Given the description of an element on the screen output the (x, y) to click on. 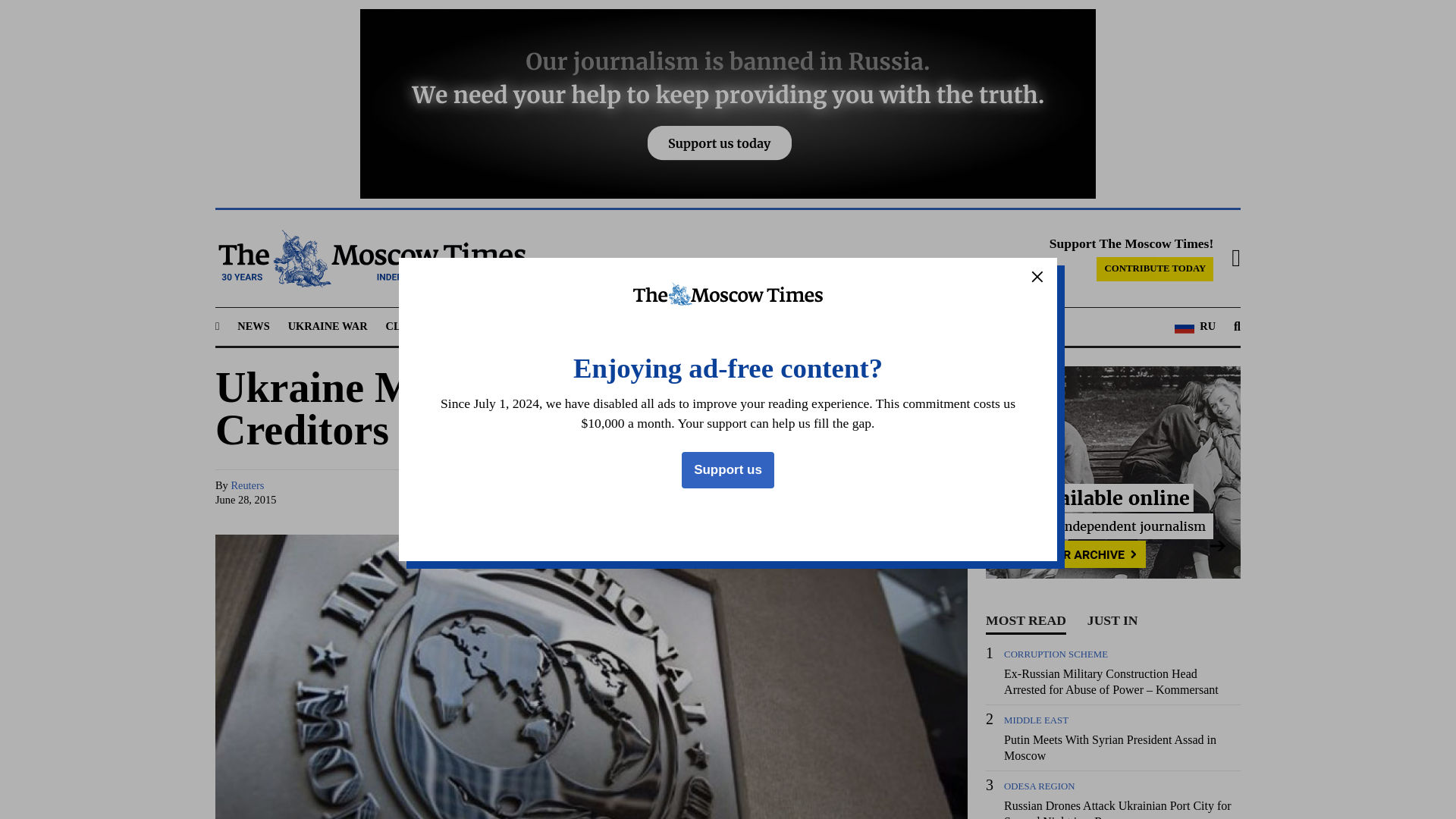
Share on Twitter (810, 492)
Support us (727, 470)
ARCHIVE (853, 326)
Share on Flipboard (925, 492)
REGIONS (479, 326)
MEANWHILE (629, 326)
OPINION (708, 326)
RU (1194, 326)
BUSINESS (550, 326)
NEWS (253, 326)
PODCASTS (780, 326)
Share on Facebook (781, 492)
CLIMATE (411, 326)
CONTRIBUTE TODAY (1154, 269)
Share on Telegram (838, 492)
